Given the description of an element on the screen output the (x, y) to click on. 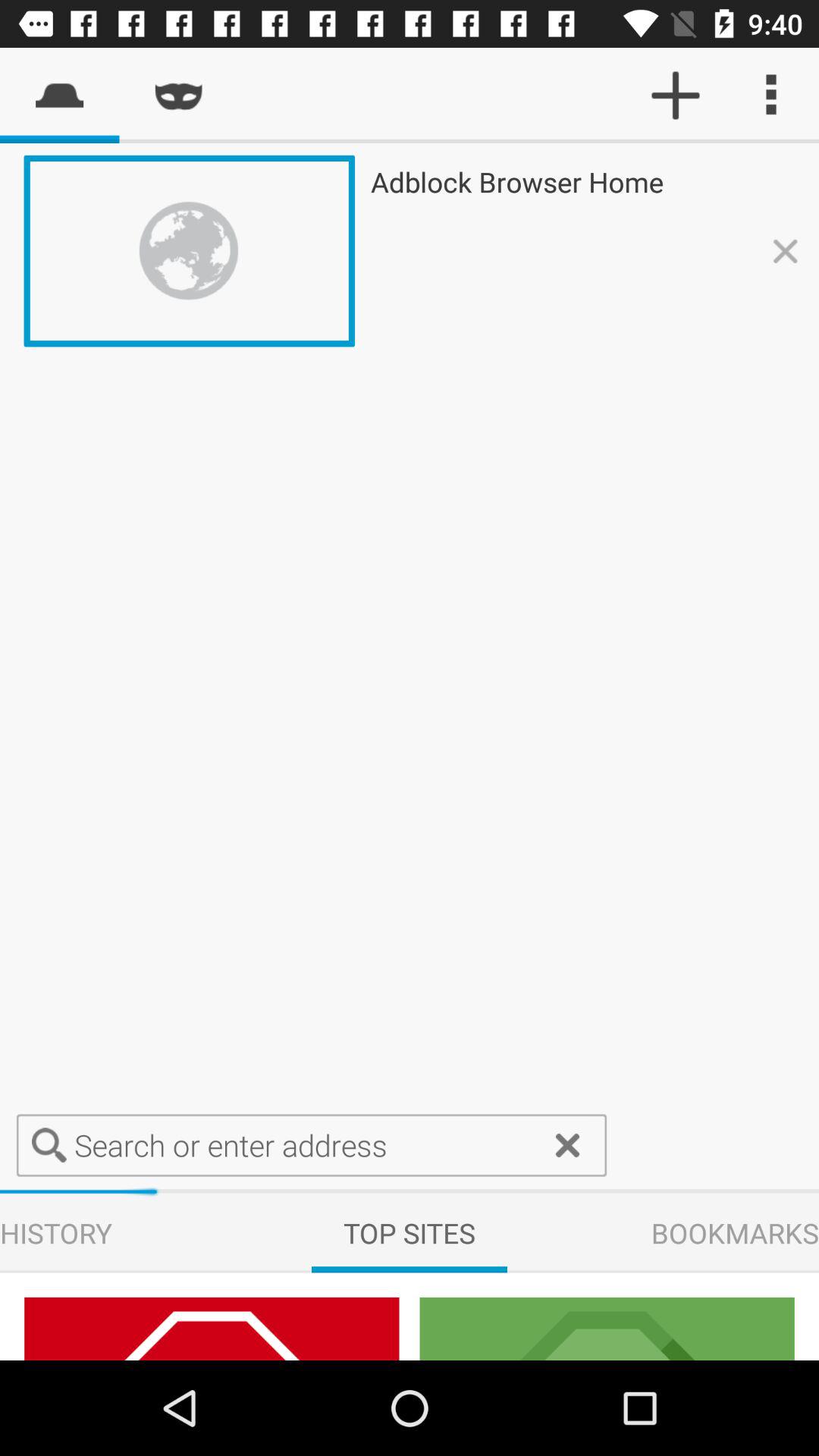
select the second symbol on the top from the left (179, 95)
click on icon which is right to text ad block browser home (785, 251)
select the image which is before adblock browser home (189, 250)
select the icon left to the text adblock browser home (607, 1328)
click on bookmarks which is on the right side of top sites (735, 1233)
